Given the description of an element on the screen output the (x, y) to click on. 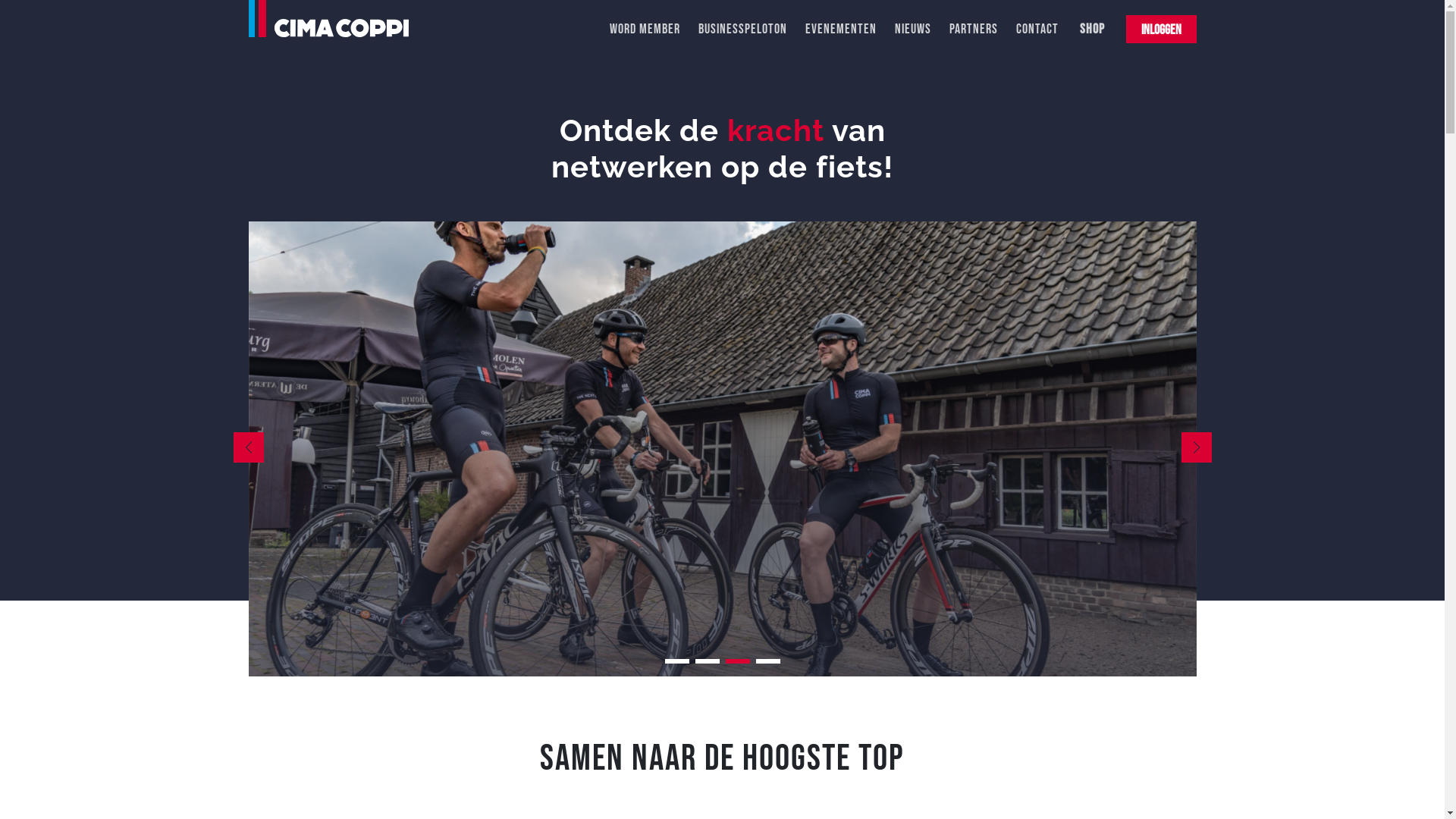
EVENEMENTEN Element type: text (840, 28)
PARTNERS Element type: text (973, 28)
CONTACT Element type: text (1037, 28)
WORD MEMBER Element type: text (644, 28)
Inloggen Element type: text (1160, 29)
BUSINESSPELOTON Element type: text (741, 28)
NIEUWS Element type: text (912, 28)
SHOP Element type: text (1090, 29)
